Given the description of an element on the screen output the (x, y) to click on. 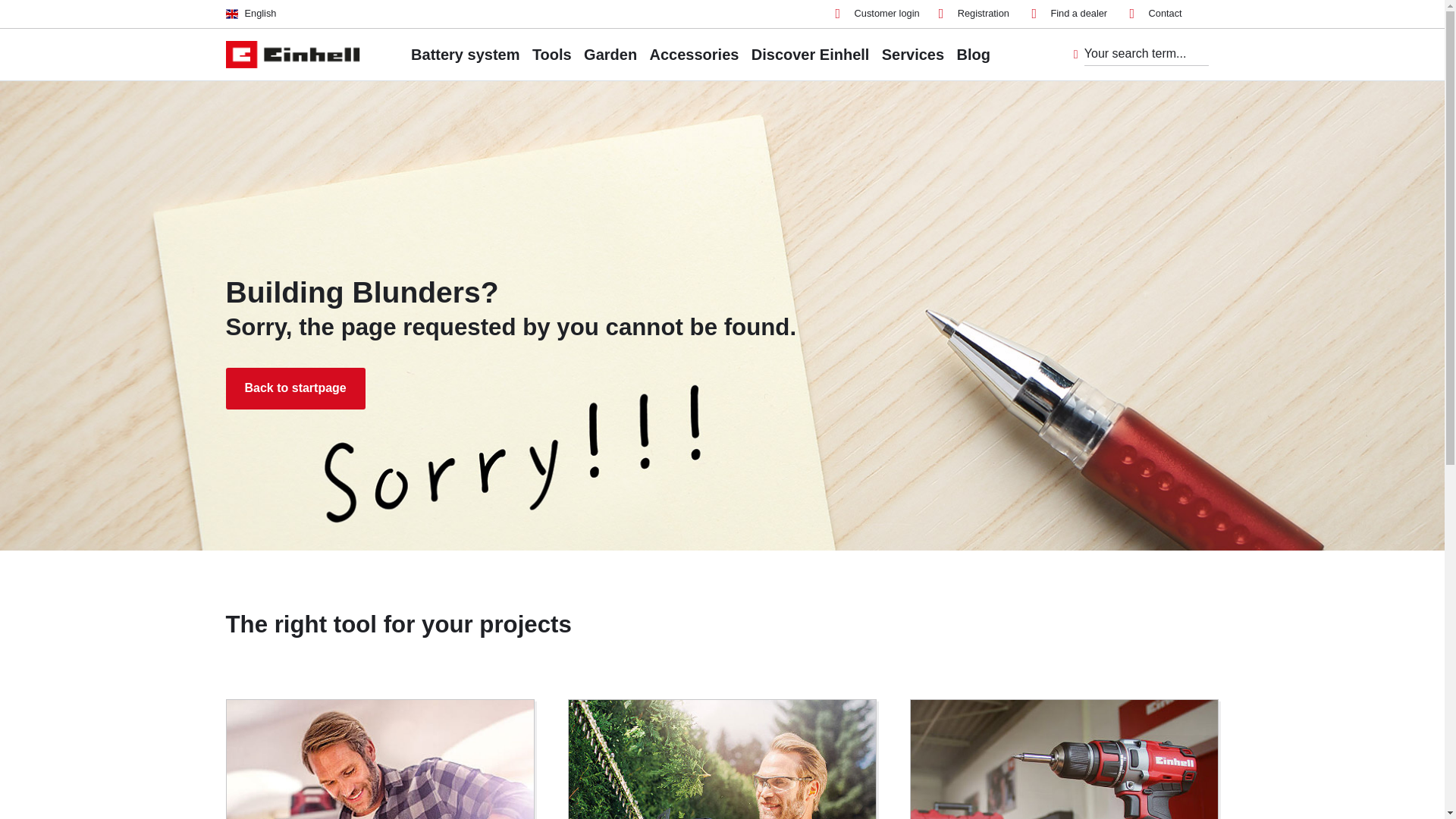
man working with a cordless screwdriver (379, 759)
Contact (1155, 13)
Battery system (464, 54)
cordless screwdriver with accessories (1064, 759)
Registration (974, 13)
Find a dealer (1068, 13)
Customer login (877, 13)
man with a cordless hedge trimmer (722, 759)
